Given the description of an element on the screen output the (x, y) to click on. 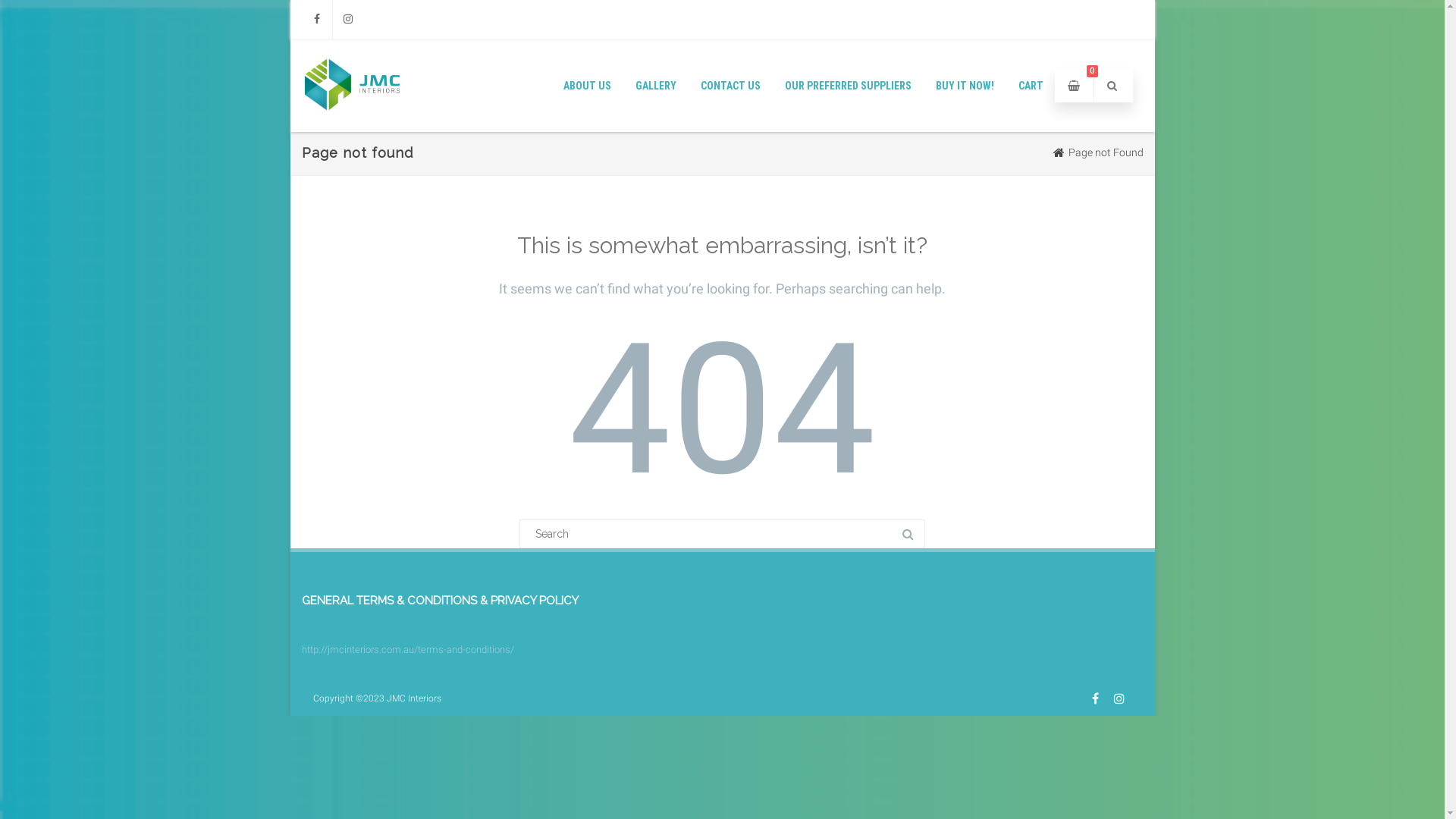
CART Element type: text (1030, 84)
BUY IT NOW! Element type: text (963, 84)
OUR PREFERRED SUPPLIERS Element type: text (847, 84)
Instagram Element type: hover (347, 19)
Instagram Element type: hover (1118, 698)
CONTACT US Element type: text (729, 84)
jmcinteriors.com.au Element type: hover (352, 126)
Facebook Element type: hover (316, 19)
ABOUT US Element type: text (587, 84)
GALLERY Element type: text (655, 84)
Search for: Element type: hover (722, 533)
Facebook Element type: hover (1095, 698)
